Given the description of an element on the screen output the (x, y) to click on. 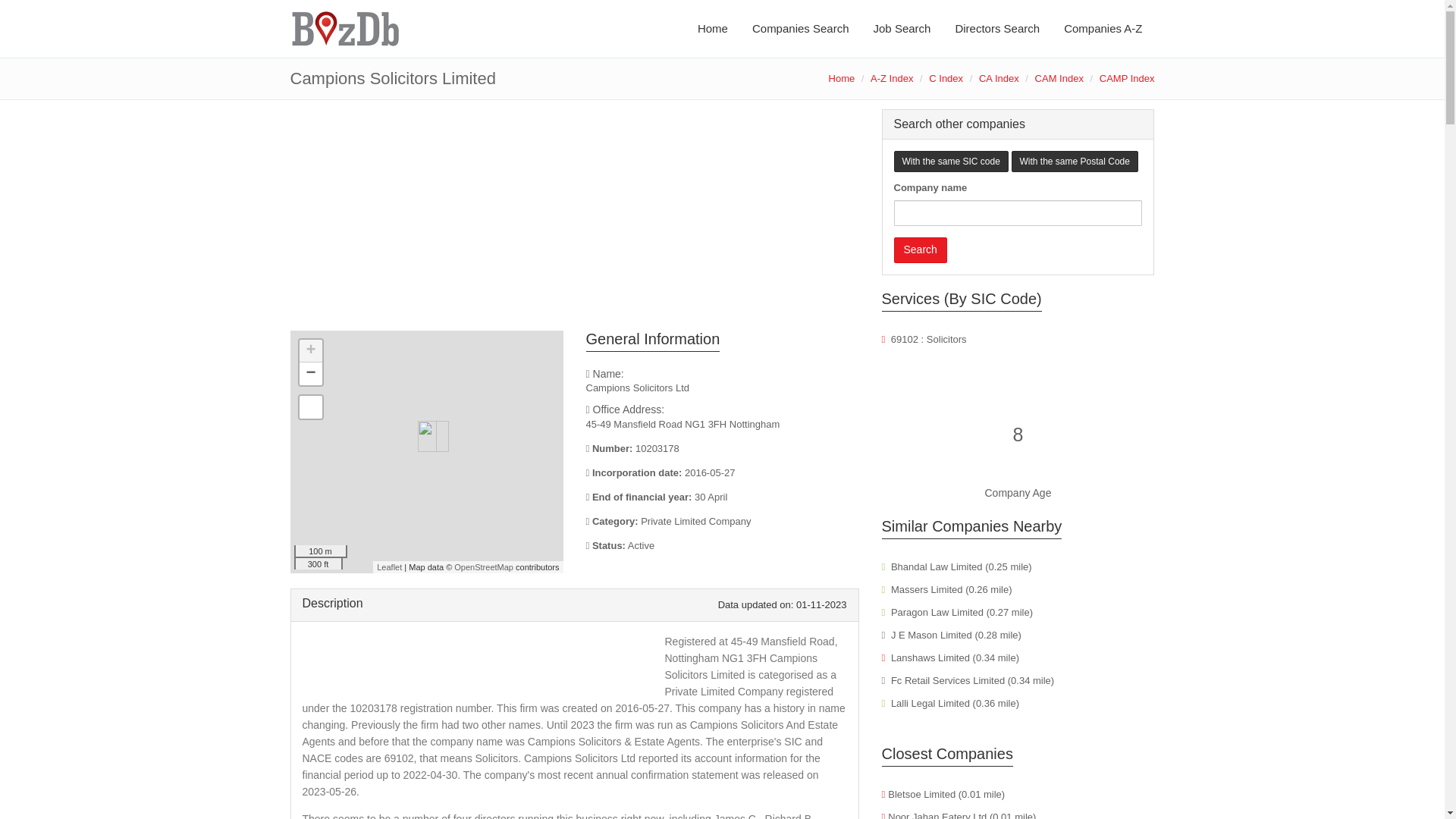
A-Z Index (891, 78)
Zoom in (309, 350)
CA Index (998, 78)
CAMP Index (1126, 78)
Companies Search (800, 28)
Companies A-Z (1102, 28)
the day the company was formed (722, 473)
Search (919, 249)
OpenStreetMap (483, 566)
